Given the description of an element on the screen output the (x, y) to click on. 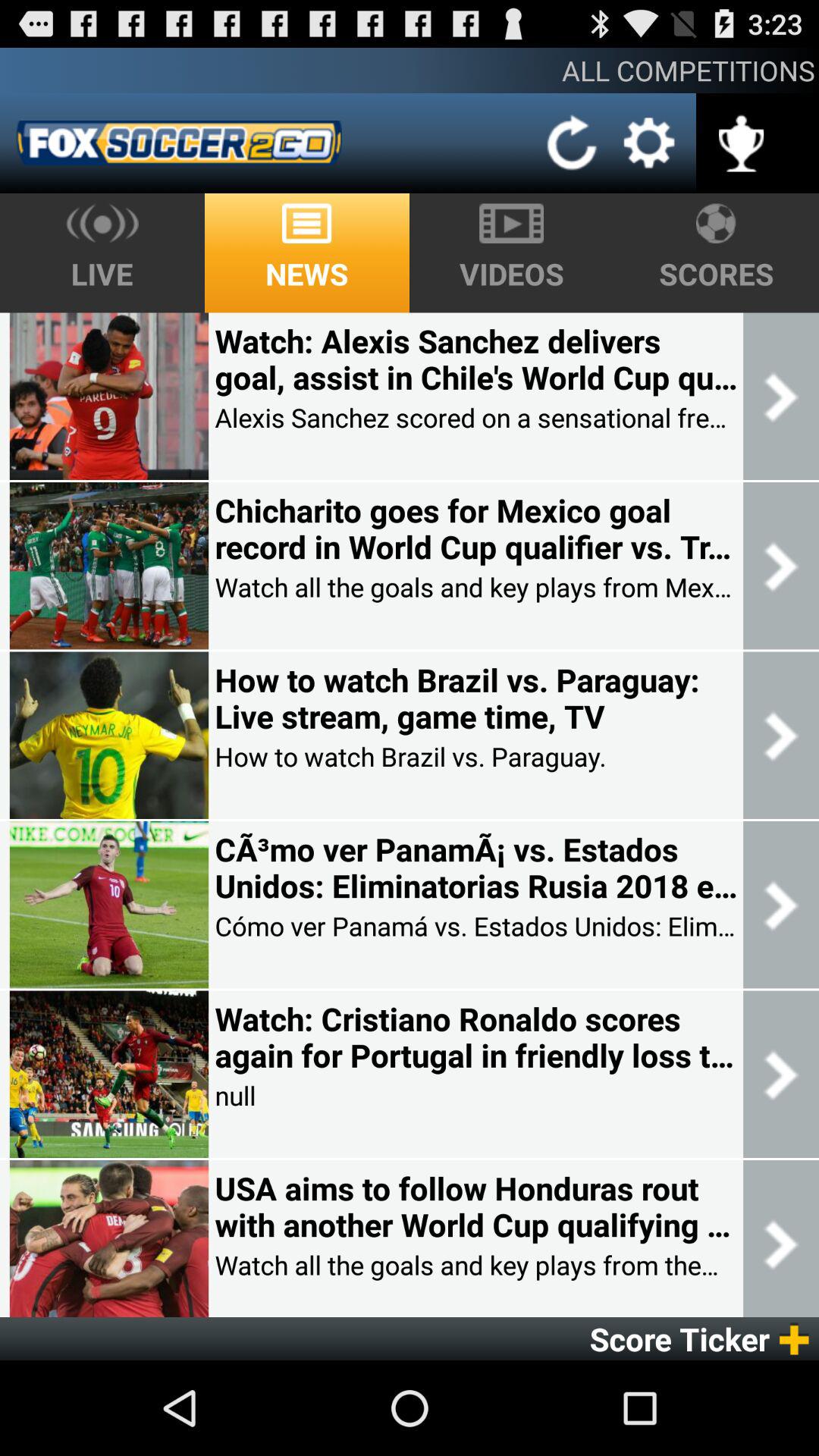
choose the icon above the watch all the item (475, 1206)
